Given the description of an element on the screen output the (x, y) to click on. 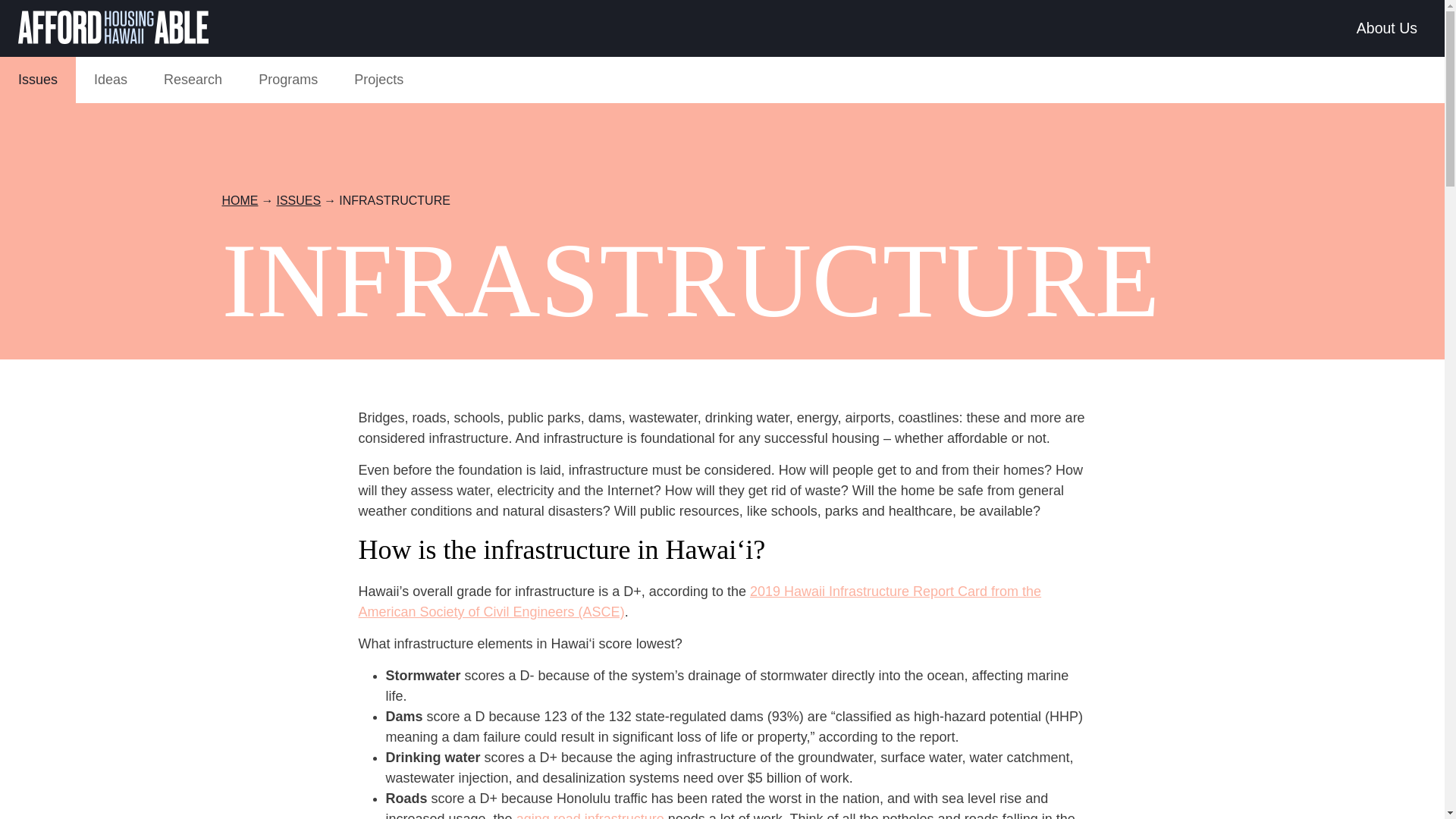
HOME (239, 200)
Ideas (110, 79)
aging road infrastructure (589, 815)
Research (192, 79)
ISSUES (298, 200)
Programs (288, 79)
About Us (1387, 28)
Projects (379, 79)
Issues (37, 79)
